Given the description of an element on the screen output the (x, y) to click on. 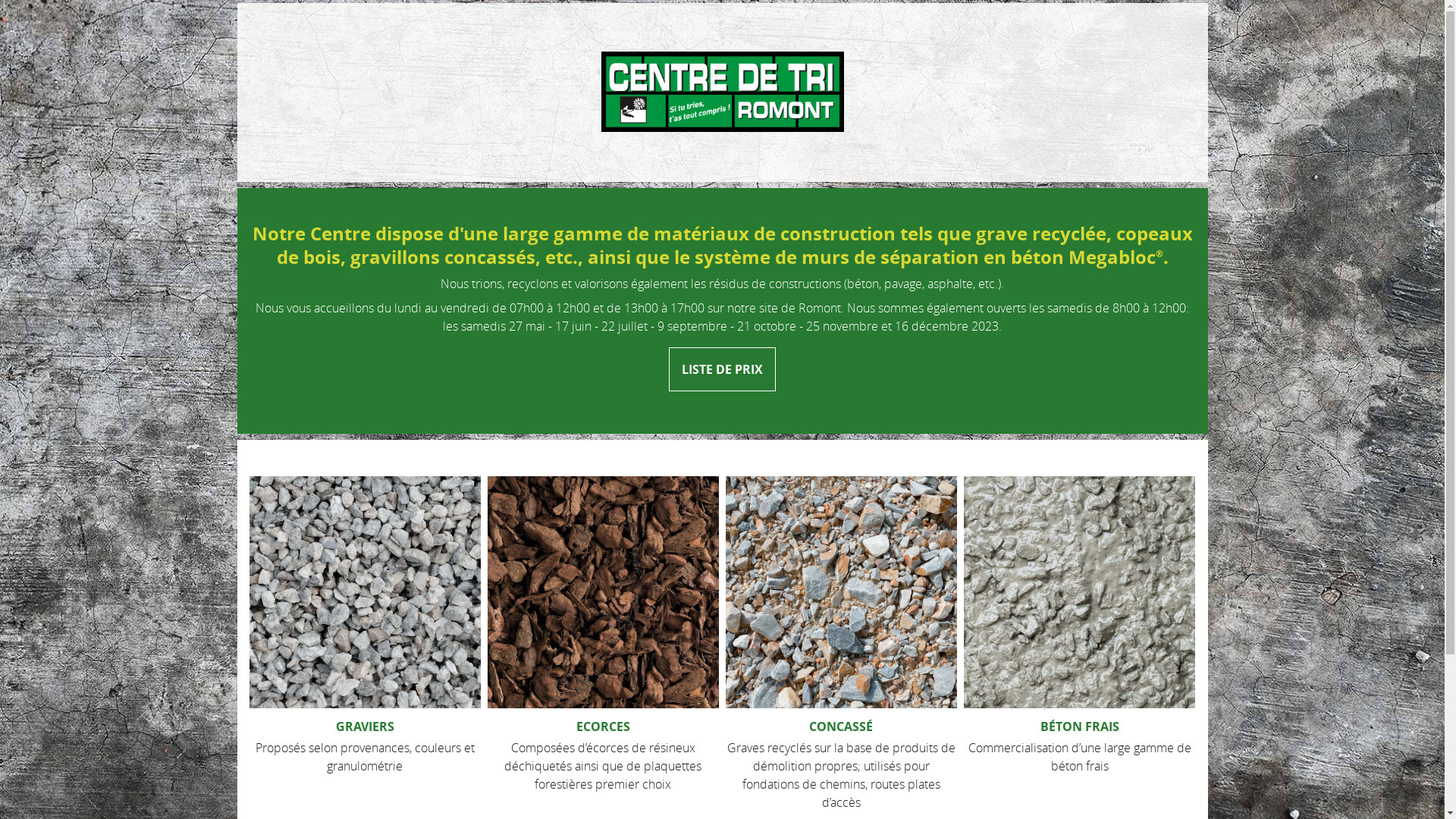
LISTE DE PRIX Element type: text (721, 369)
